Given the description of an element on the screen output the (x, y) to click on. 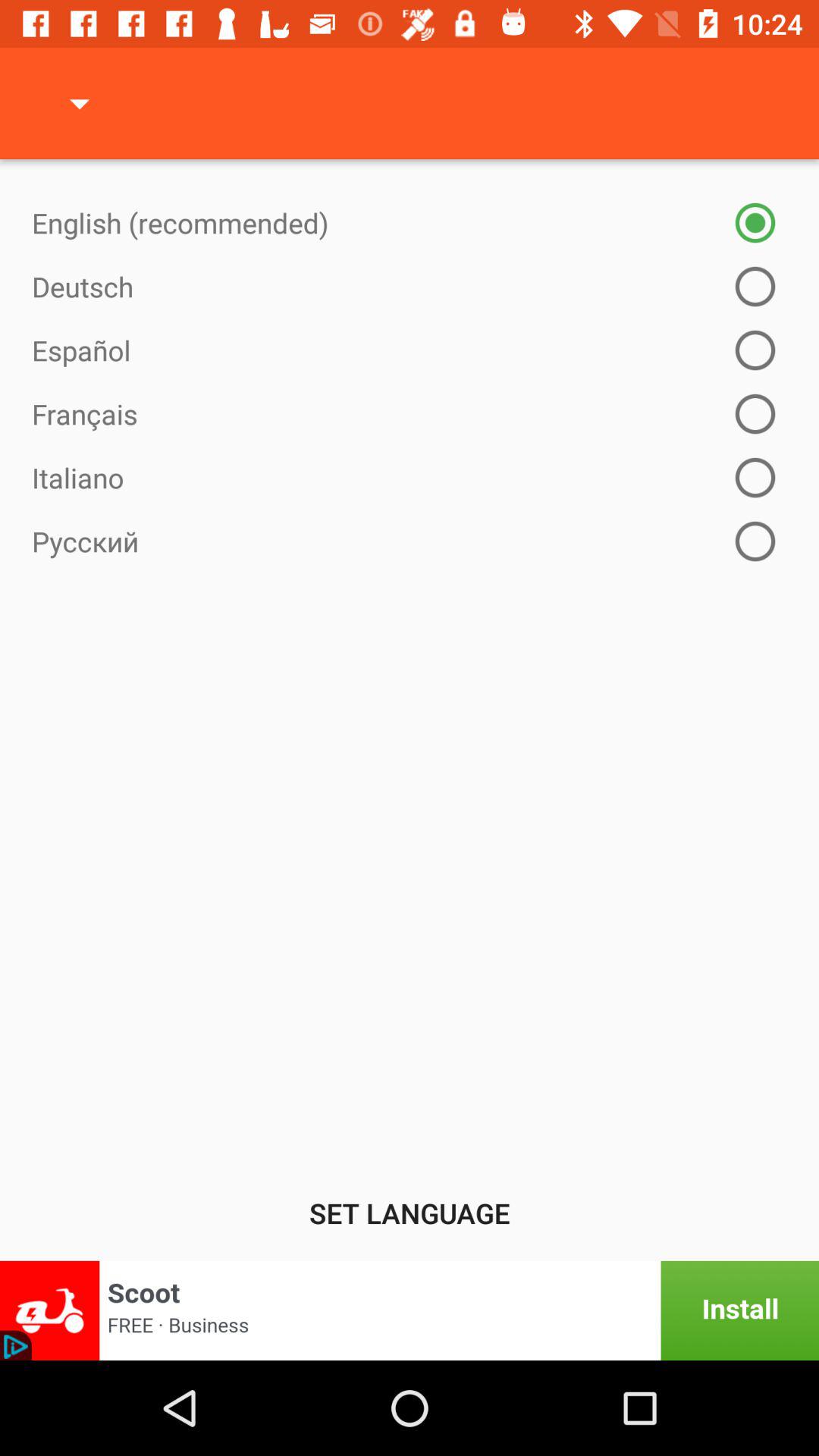
tap item below the set language icon (409, 1310)
